Given the description of an element on the screen output the (x, y) to click on. 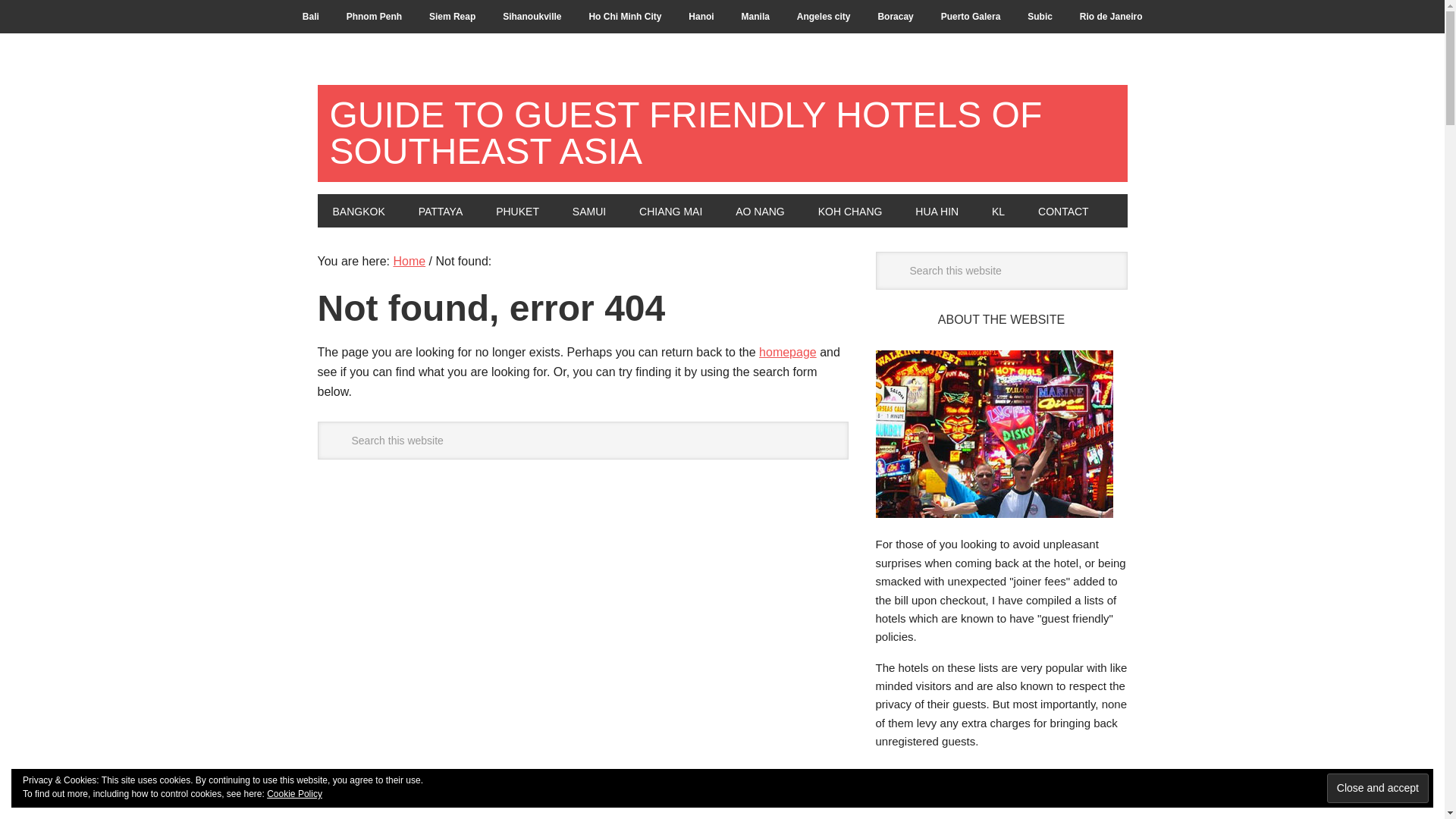
KL (998, 210)
Boracay (894, 16)
Bali (310, 16)
PATTAYA (441, 210)
PHUKET (517, 210)
Angeles city (823, 16)
Puerto Galera (970, 16)
Ho Chi Minh City (624, 16)
CHIANG MAI (670, 210)
homepage (787, 351)
